Given the description of an element on the screen output the (x, y) to click on. 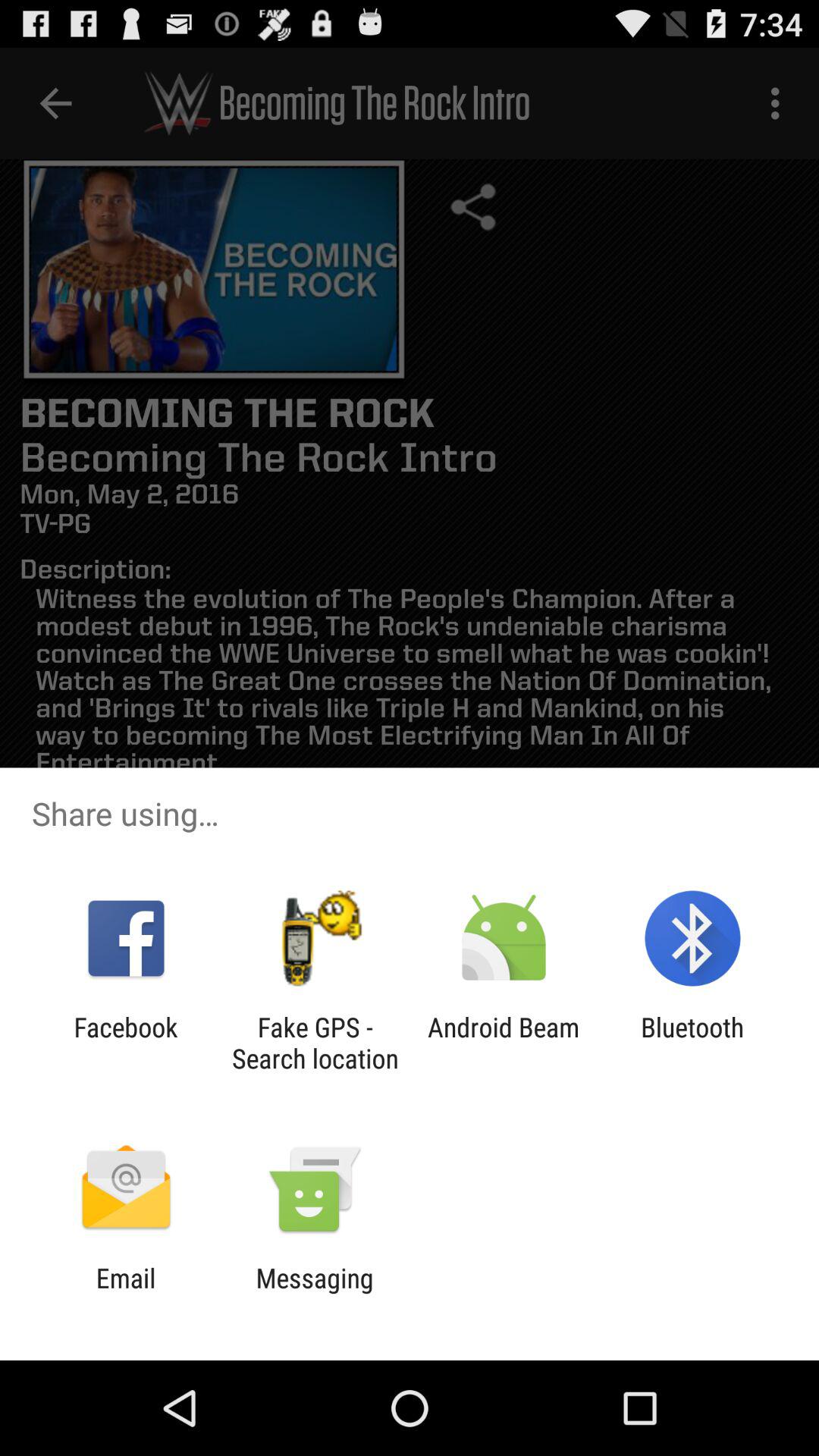
jump until facebook app (125, 1042)
